Given the description of an element on the screen output the (x, y) to click on. 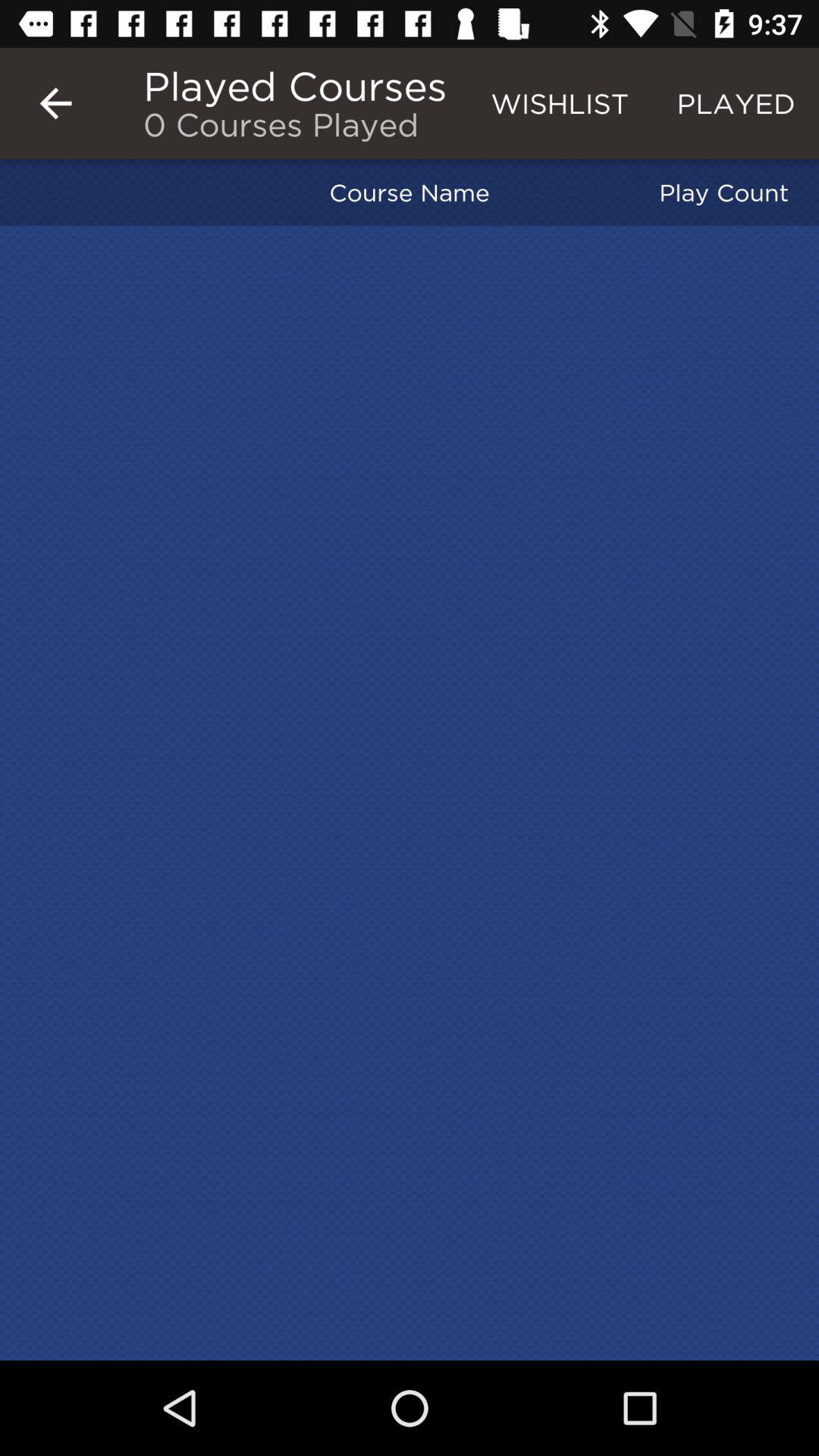
choose icon next to the played item (559, 103)
